Given the description of an element on the screen output the (x, y) to click on. 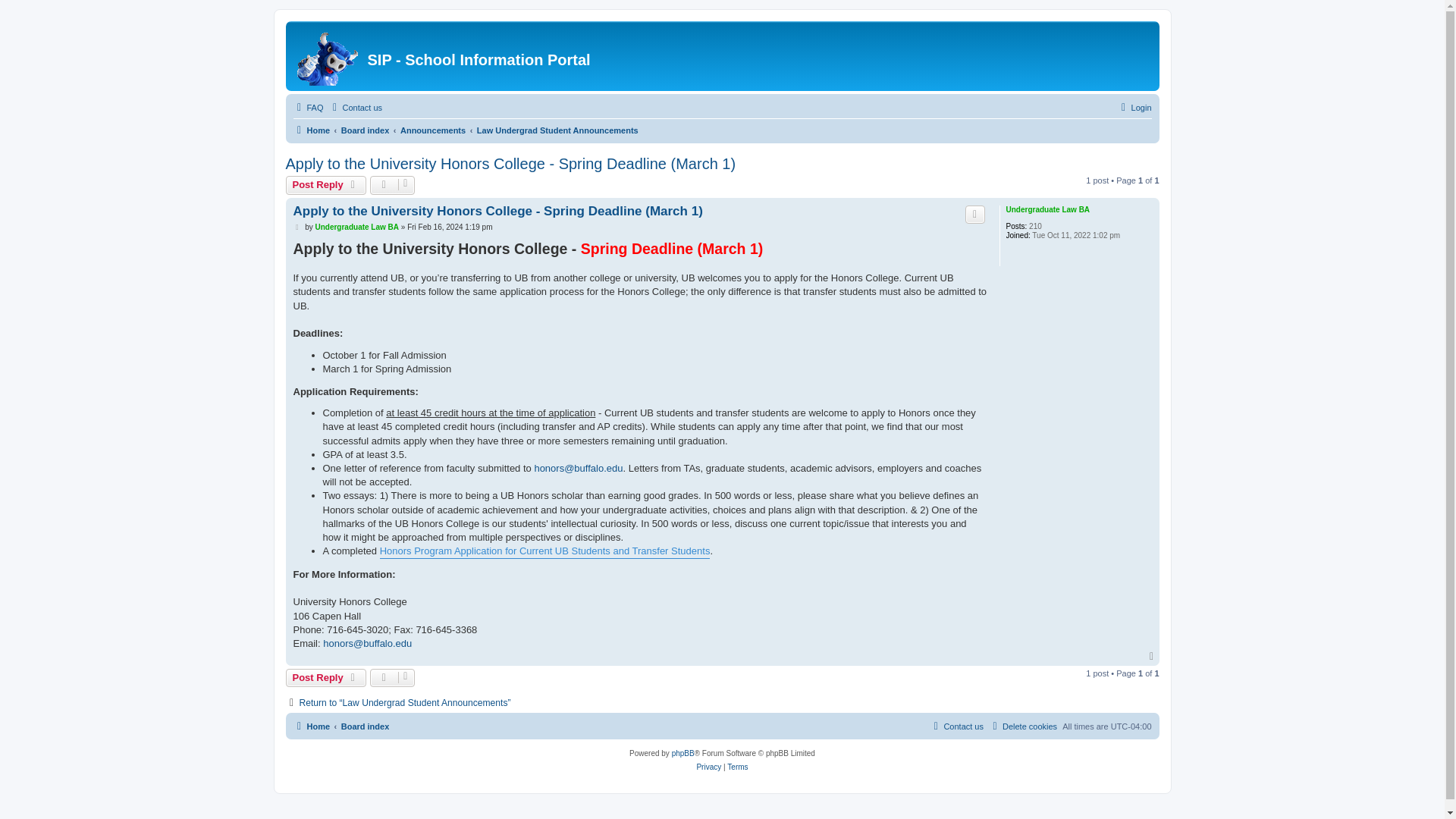
phpBB (682, 753)
Announcements (432, 130)
Law Undergrad Student Announcements (558, 130)
Announcements (432, 130)
Post a reply (325, 185)
FAQ (307, 107)
Topic tools (391, 185)
Post Reply (325, 678)
Topic tools (391, 678)
Board index (365, 726)
Law Undergrad Student Announcements (558, 130)
Post a reply (325, 678)
Post (297, 226)
Undergraduate Law BA (356, 226)
Top (1151, 656)
